Given the description of an element on the screen output the (x, y) to click on. 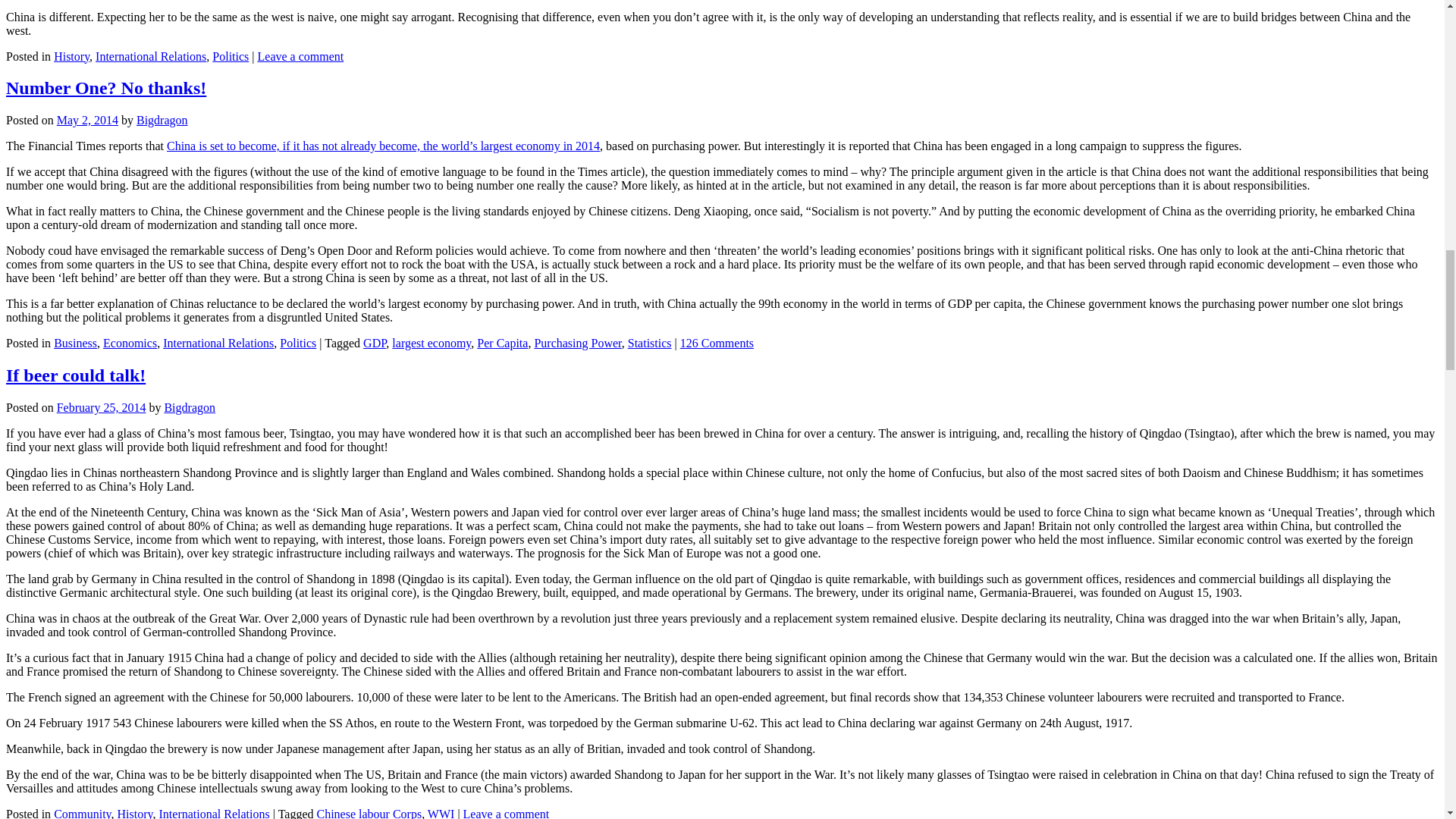
View all posts by Bigdragon (161, 119)
Purchasing Power (577, 342)
International Relations (213, 813)
International Relations (218, 342)
Politics (230, 56)
Number One? No thanks! (105, 87)
Business (75, 342)
Per Capita (502, 342)
Statistics (649, 342)
February 25, 2014 (101, 407)
largest economy (430, 342)
Economics (130, 342)
2:36 pm (101, 407)
If beer could talk! (75, 374)
126 Comments (716, 342)
